Given the description of an element on the screen output the (x, y) to click on. 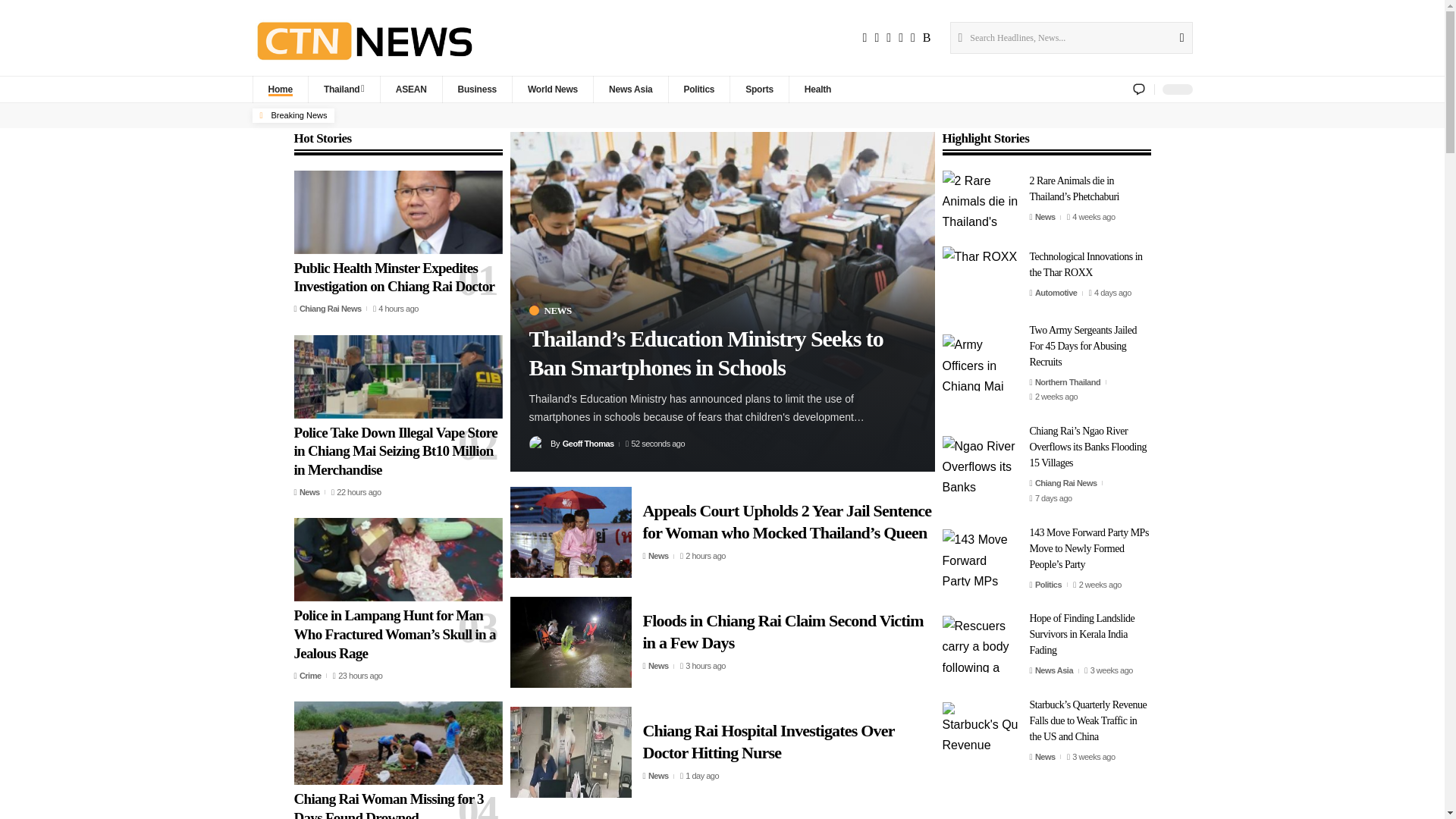
Technological Innovations in the Thar ROXX (979, 274)
Thailand (343, 89)
ASEAN (411, 89)
Business (477, 89)
Two Army Sergeants Jailed For 45 Days for Abusing Recruits (979, 362)
Health (817, 89)
News Asia (629, 89)
Floods in Chiang Rai Claim Second Victim in a Few Days (569, 642)
